Given the description of an element on the screen output the (x, y) to click on. 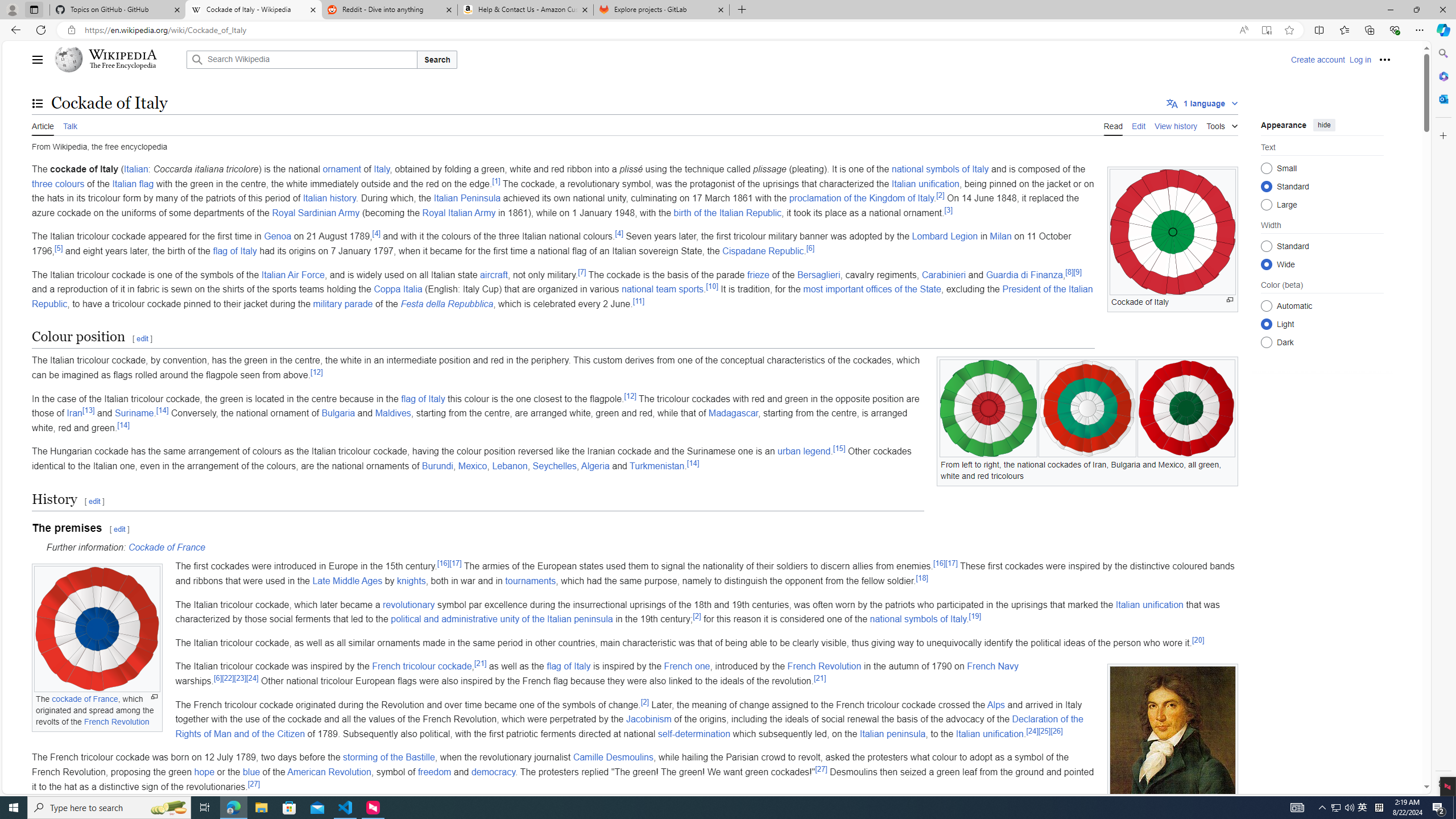
Bersaglieri (818, 274)
[15] (838, 447)
Italian Peninsula (466, 198)
Microsoft 365 (1442, 76)
Edit (1138, 124)
Create account (1317, 58)
[10] (711, 285)
cockade of France (84, 699)
[13] (87, 409)
national symbols of Italy (917, 619)
Lombard Legion (944, 236)
[16] (939, 563)
French Revolution (824, 666)
[6] (217, 677)
ornament (341, 169)
